Given the description of an element on the screen output the (x, y) to click on. 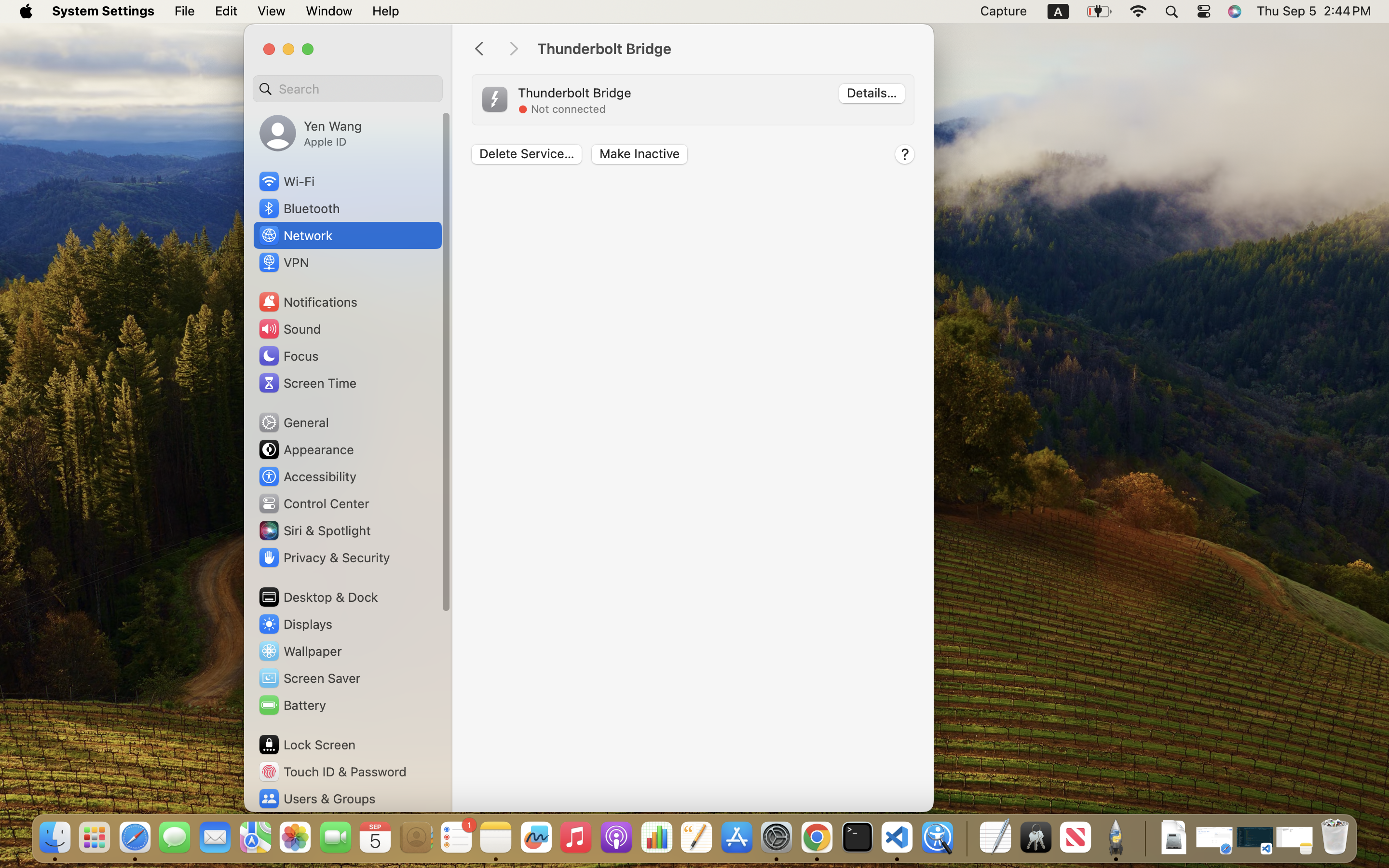
Focus Element type: AXStaticText (287, 355)
Wallpaper Element type: AXStaticText (299, 650)
0.4285714328289032 Element type: AXDockItem (965, 837)
Control Center Element type: AXStaticText (313, 503)
Accessibility Element type: AXStaticText (306, 476)
